Given the description of an element on the screen output the (x, y) to click on. 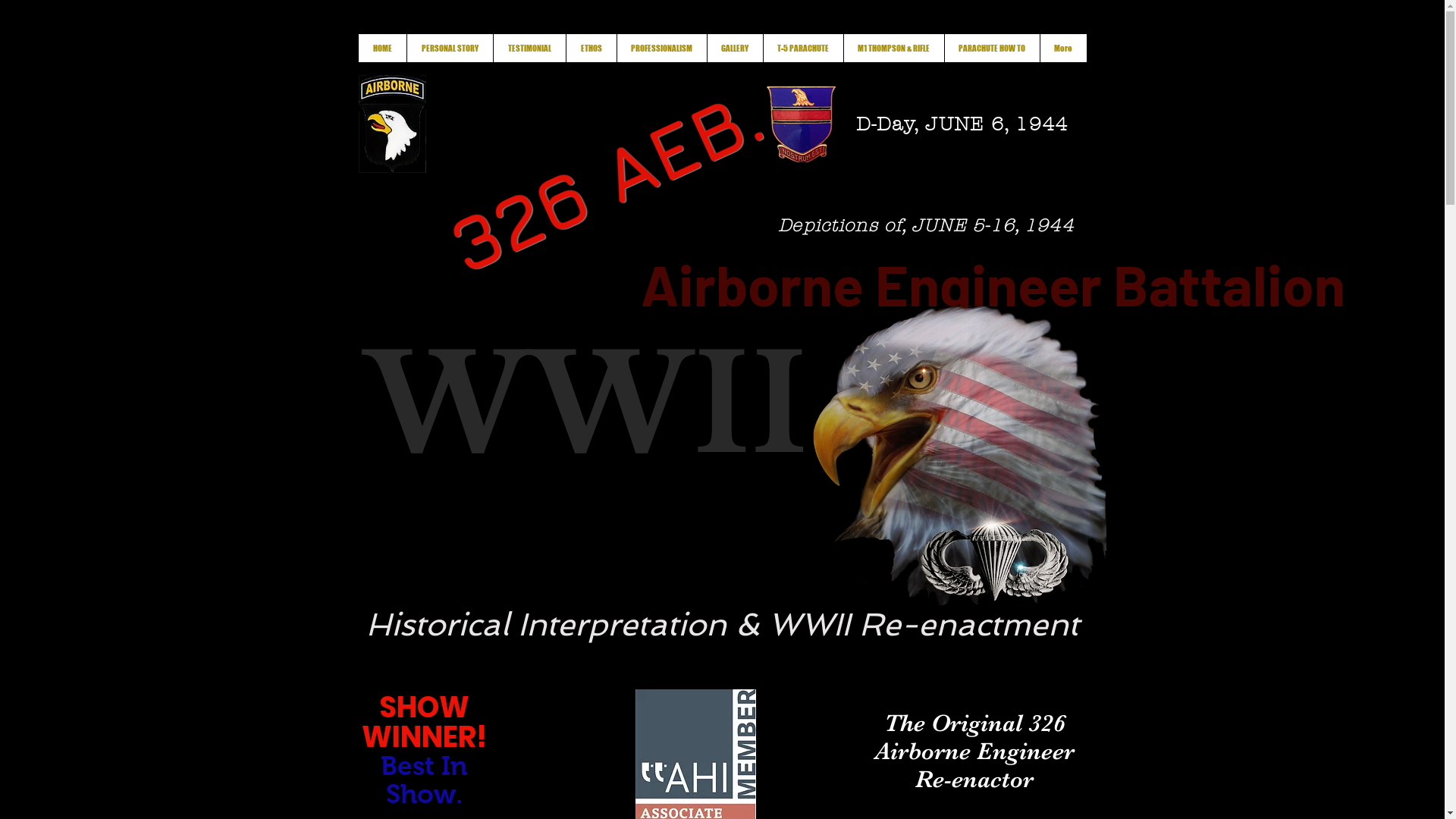
M1 THOMPSON & RIFLE Element type: text (893, 48)
T-5 PARACHUTE Element type: text (802, 48)
PARACHUTE HOW TO Element type: text (990, 48)
TESTIMONIAL Element type: text (528, 48)
HOME Element type: text (381, 48)
ETHOS Element type: text (590, 48)
GALLERY Element type: text (734, 48)
PERSONAL STORY Element type: text (449, 48)
images_edited_edited_edited.png Element type: hover (391, 123)
PROFESSIONALISM Element type: text (660, 48)
